Given the description of an element on the screen output the (x, y) to click on. 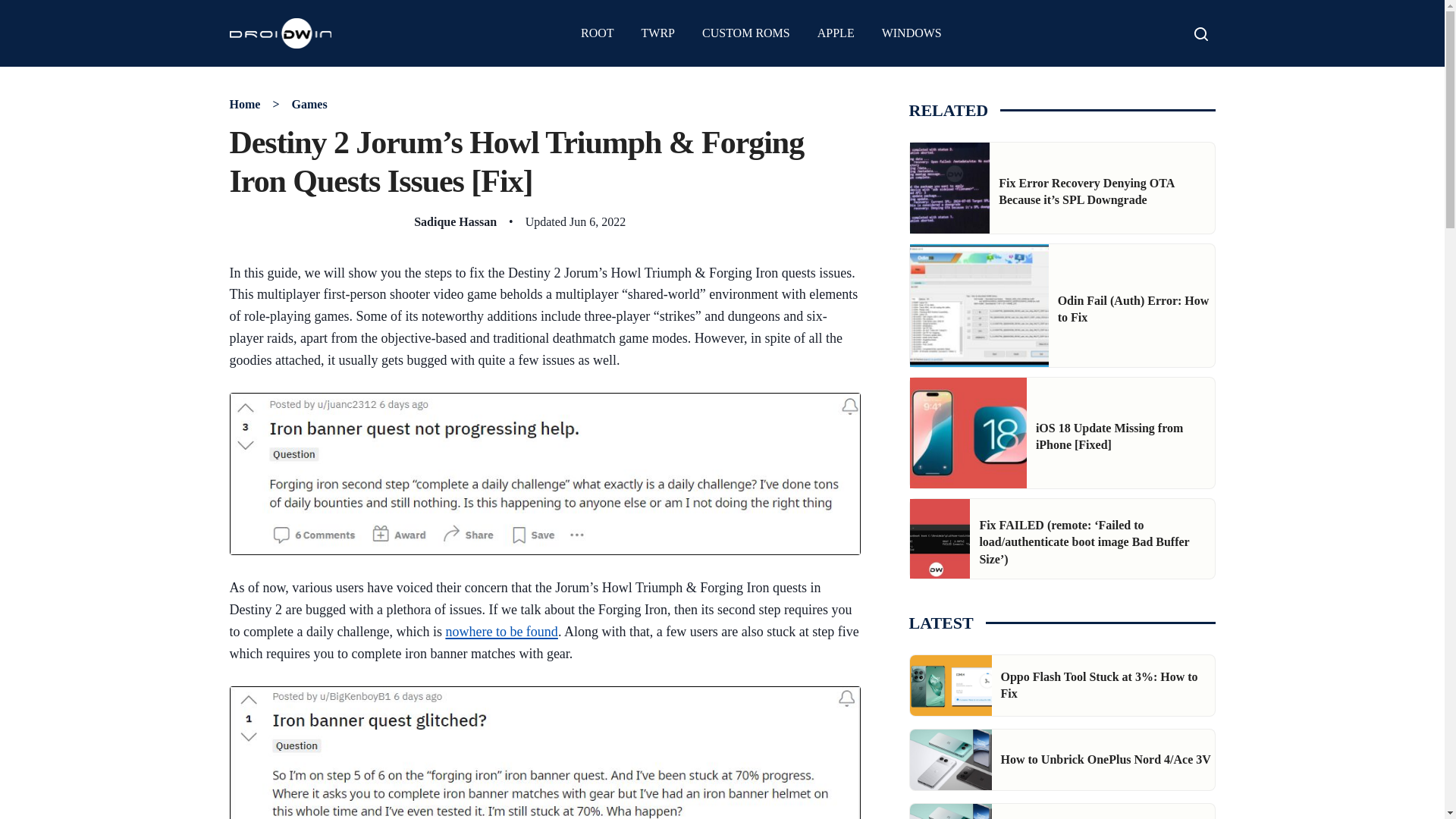
TWRP (658, 33)
CUSTOM ROMS (745, 33)
Home (244, 103)
Sadique Hassan (454, 221)
Droidwin (279, 33)
APPLE (835, 33)
nowhere to be found (501, 631)
WINDOWS (912, 33)
Games (308, 103)
ROOT (597, 33)
